Given the description of an element on the screen output the (x, y) to click on. 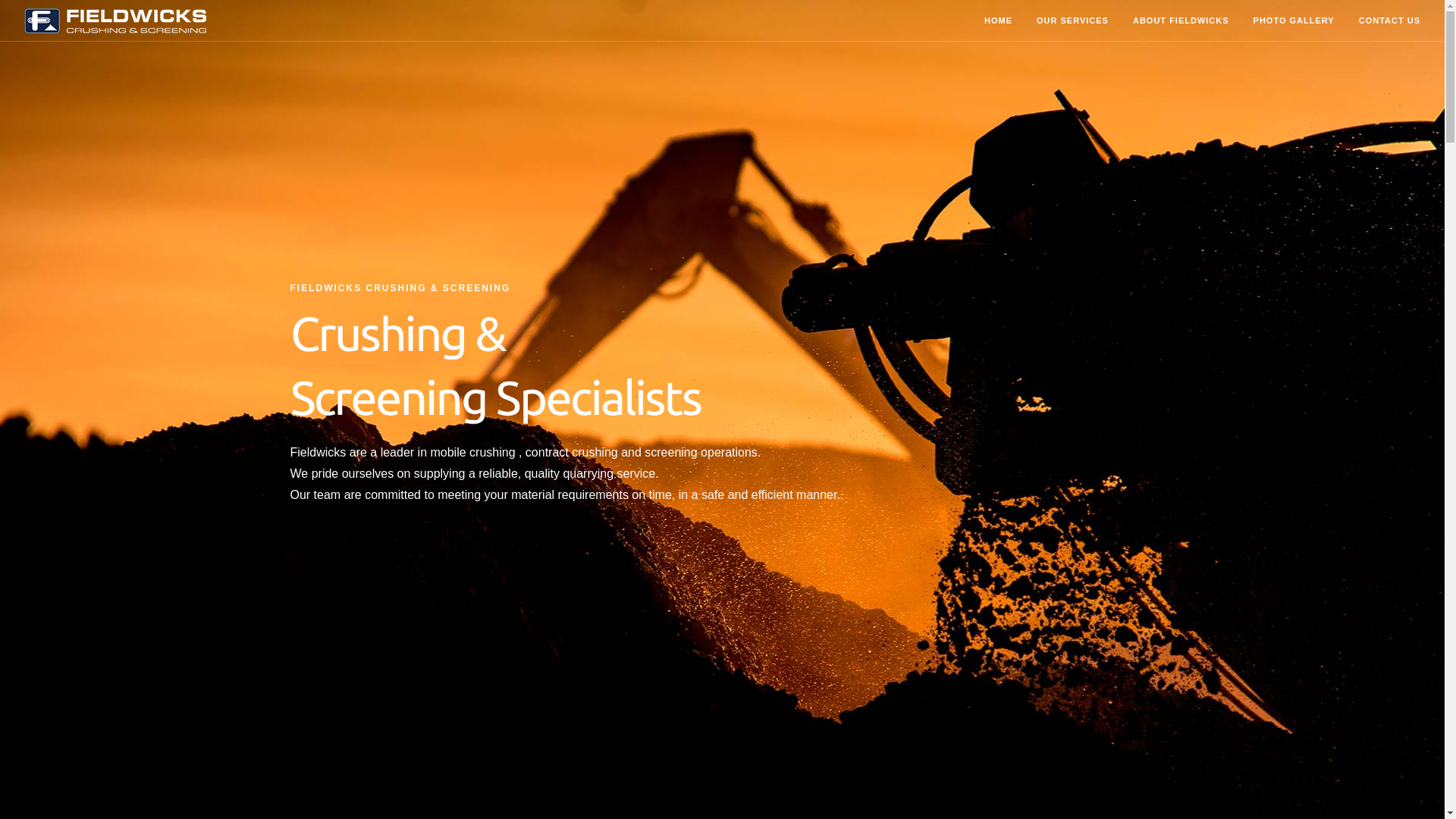
ABOUT FIELDWICKS Element type: text (1180, 21)
CONTACT US Element type: text (1389, 21)
HOME Element type: text (998, 21)
PHOTO GALLERY Element type: text (1293, 21)
OUR SERVICES Element type: text (1072, 21)
